Given the description of an element on the screen output the (x, y) to click on. 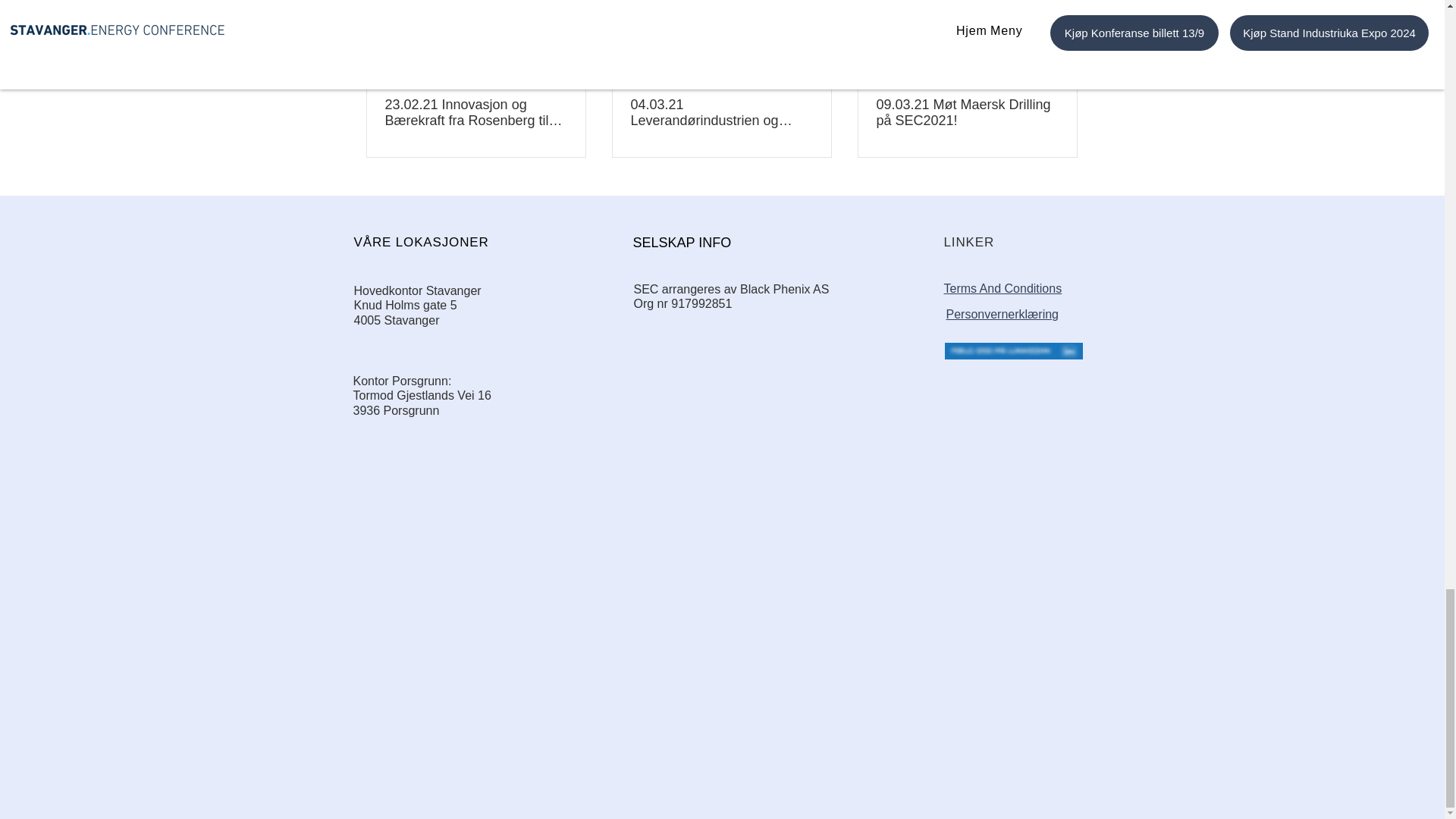
Terms And Conditions (1002, 287)
